Given the description of an element on the screen output the (x, y) to click on. 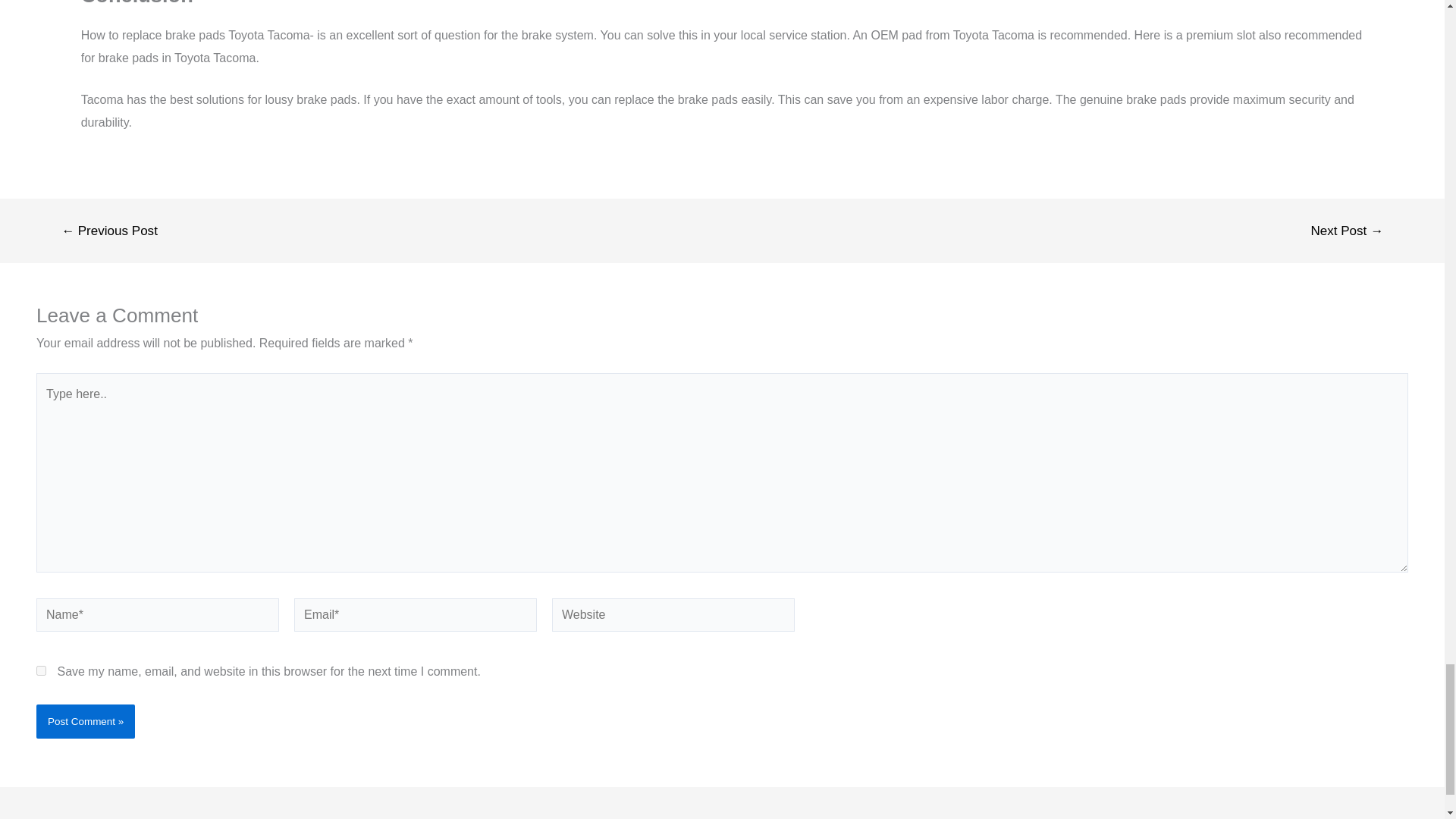
yes (41, 670)
